Given the description of an element on the screen output the (x, y) to click on. 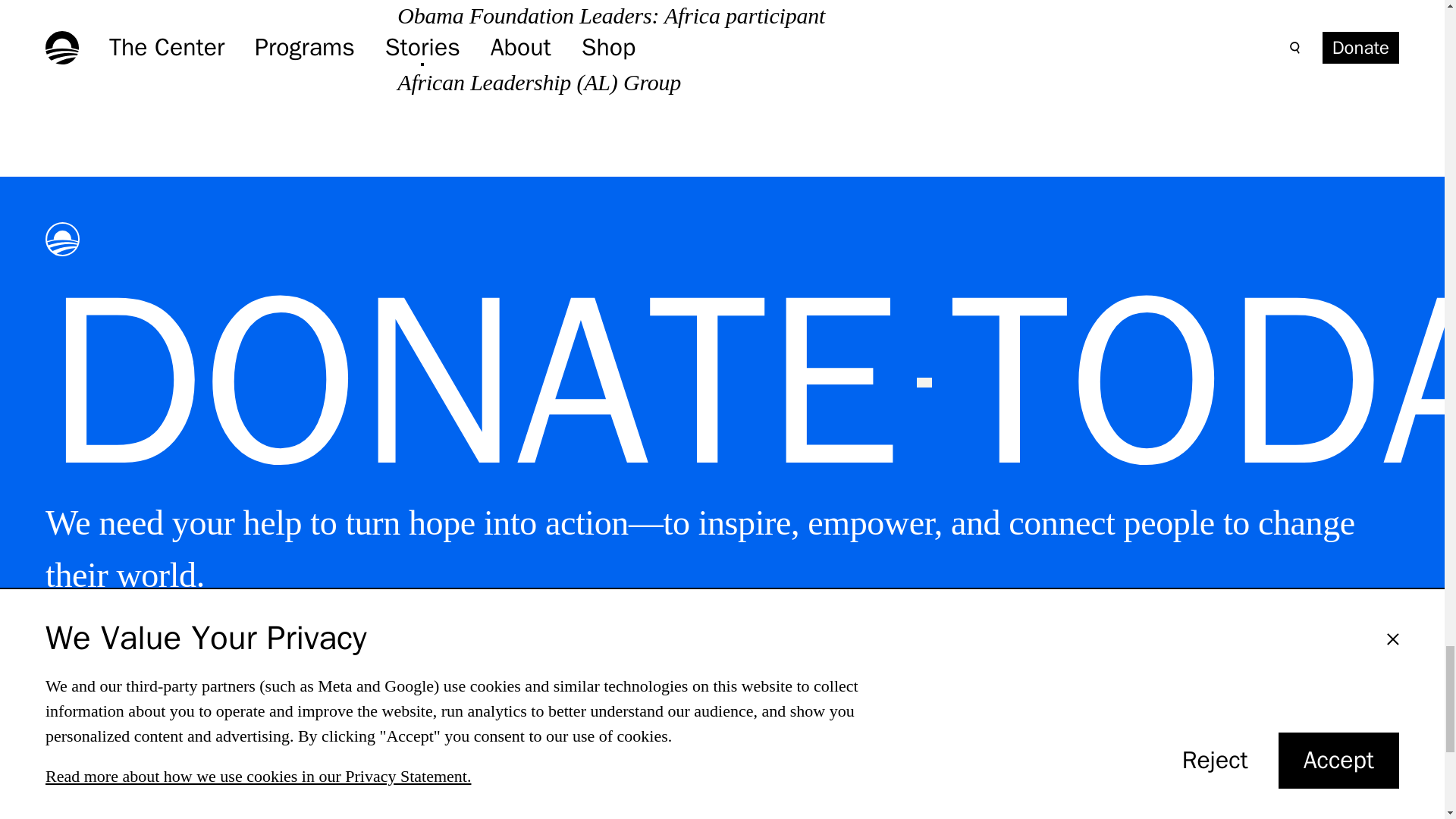
About (440, 785)
Careers (804, 814)
Donate (108, 650)
Ways to Give (831, 785)
Our Mission (474, 814)
